Given the description of an element on the screen output the (x, y) to click on. 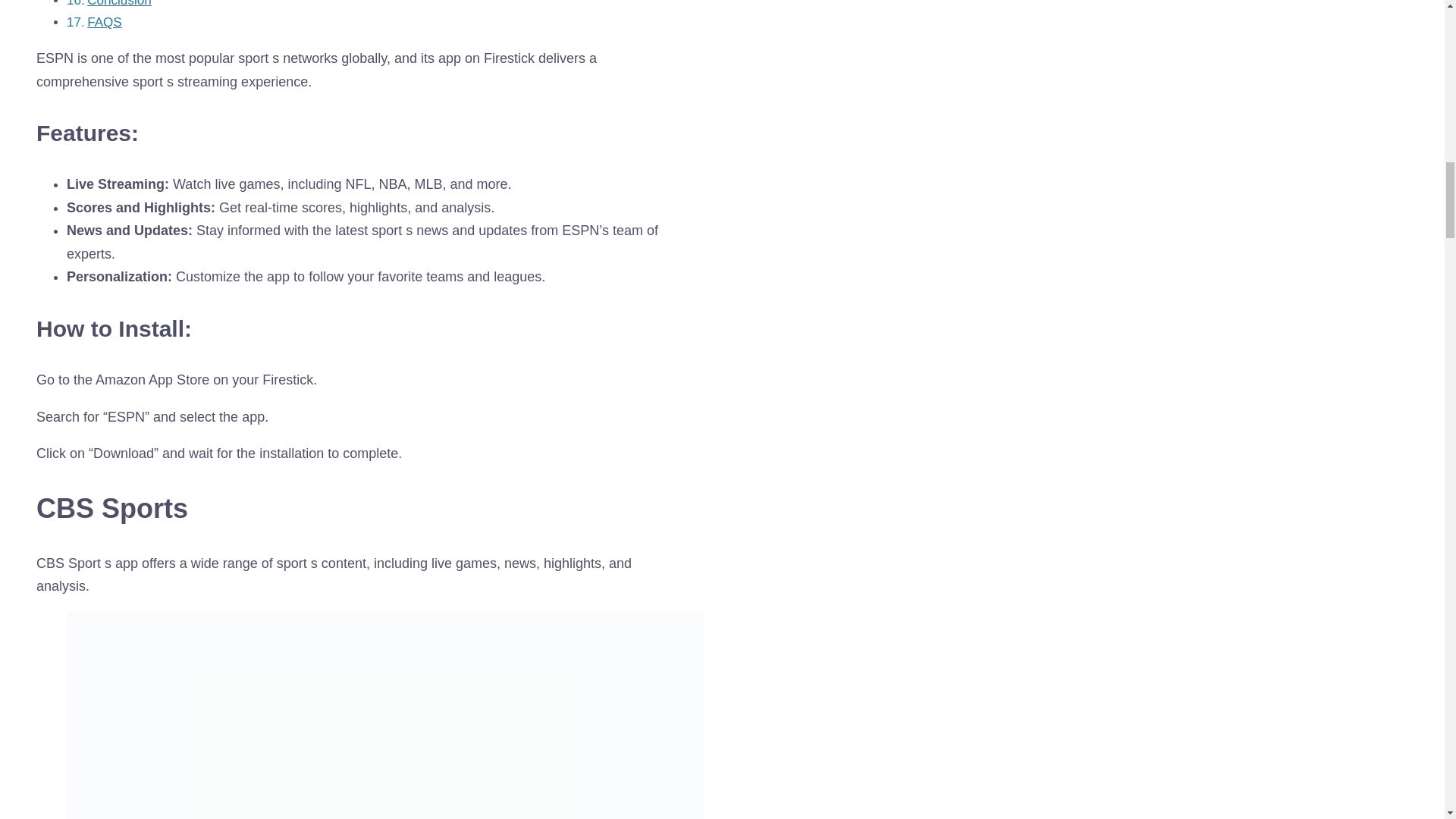
Conclusion (119, 3)
FAQS (104, 22)
